Given the description of an element on the screen output the (x, y) to click on. 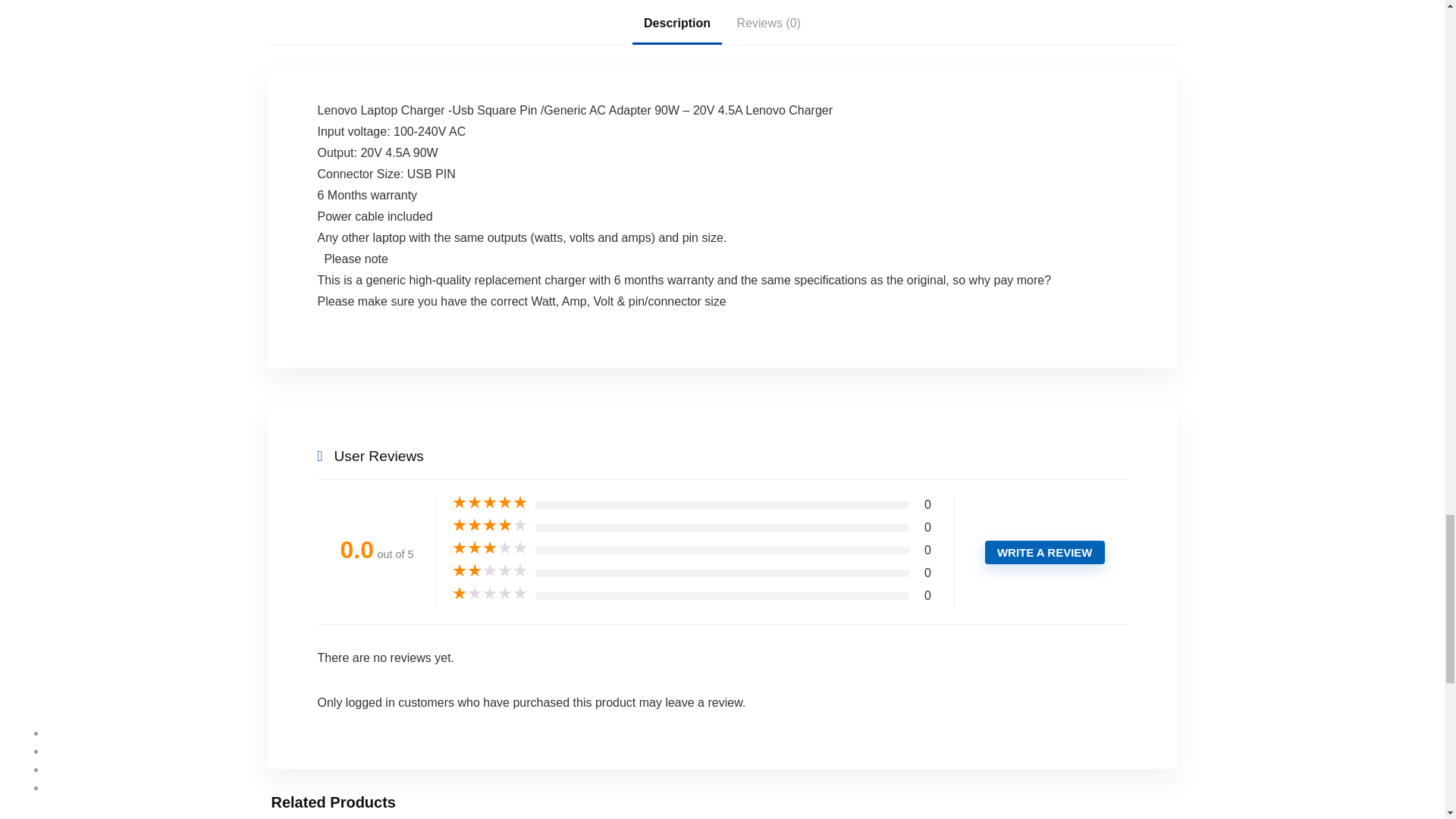
Rated 2 out of 5 (489, 570)
Description (676, 23)
Rated 3 out of 5 (489, 548)
WRITE A REVIEW (1045, 552)
Rated 1 out of 5 (489, 593)
Rated 5 out of 5 (489, 502)
Rated 4 out of 5 (489, 525)
